Given the description of an element on the screen output the (x, y) to click on. 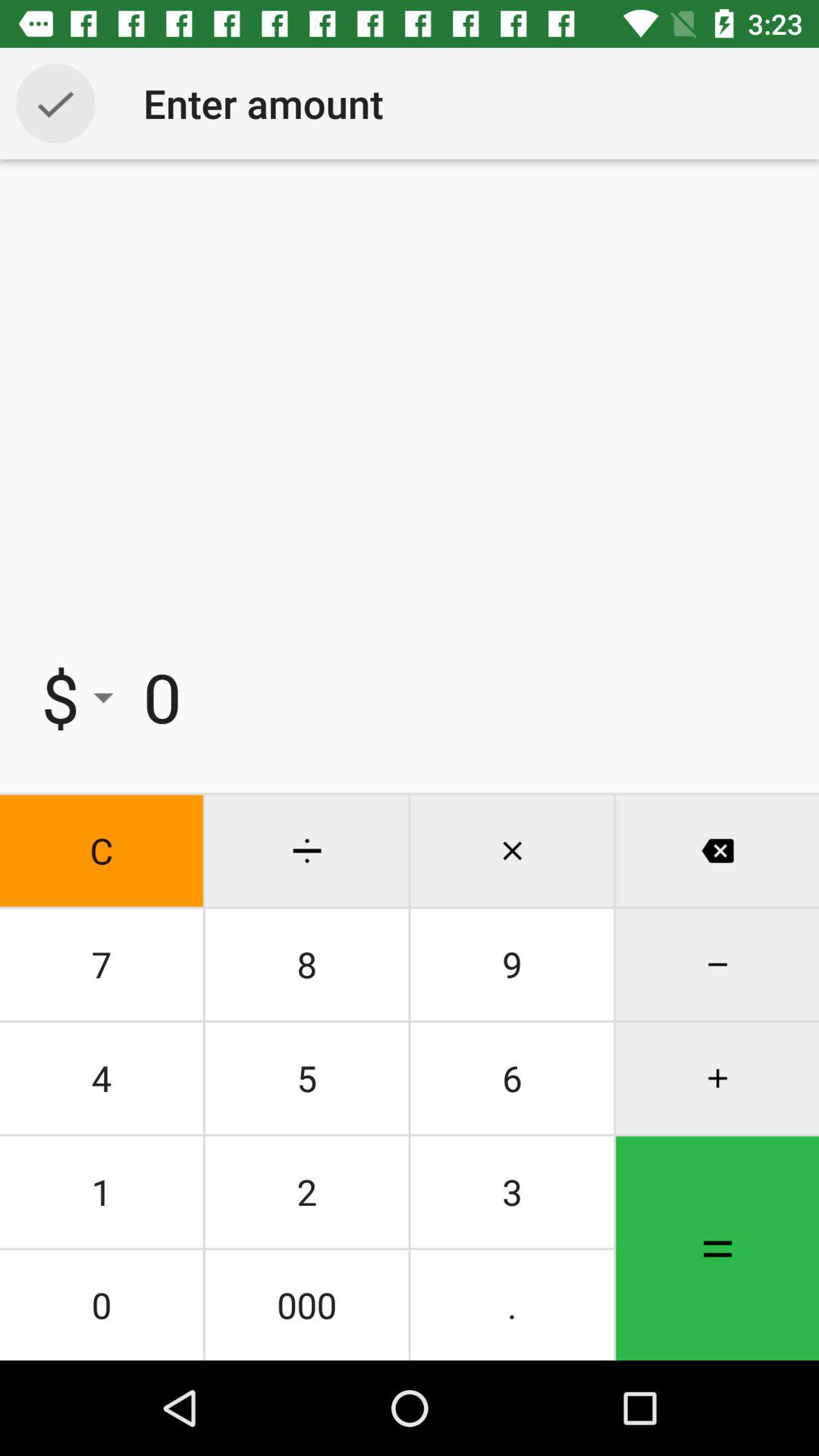
next (55, 103)
